Given the description of an element on the screen output the (x, y) to click on. 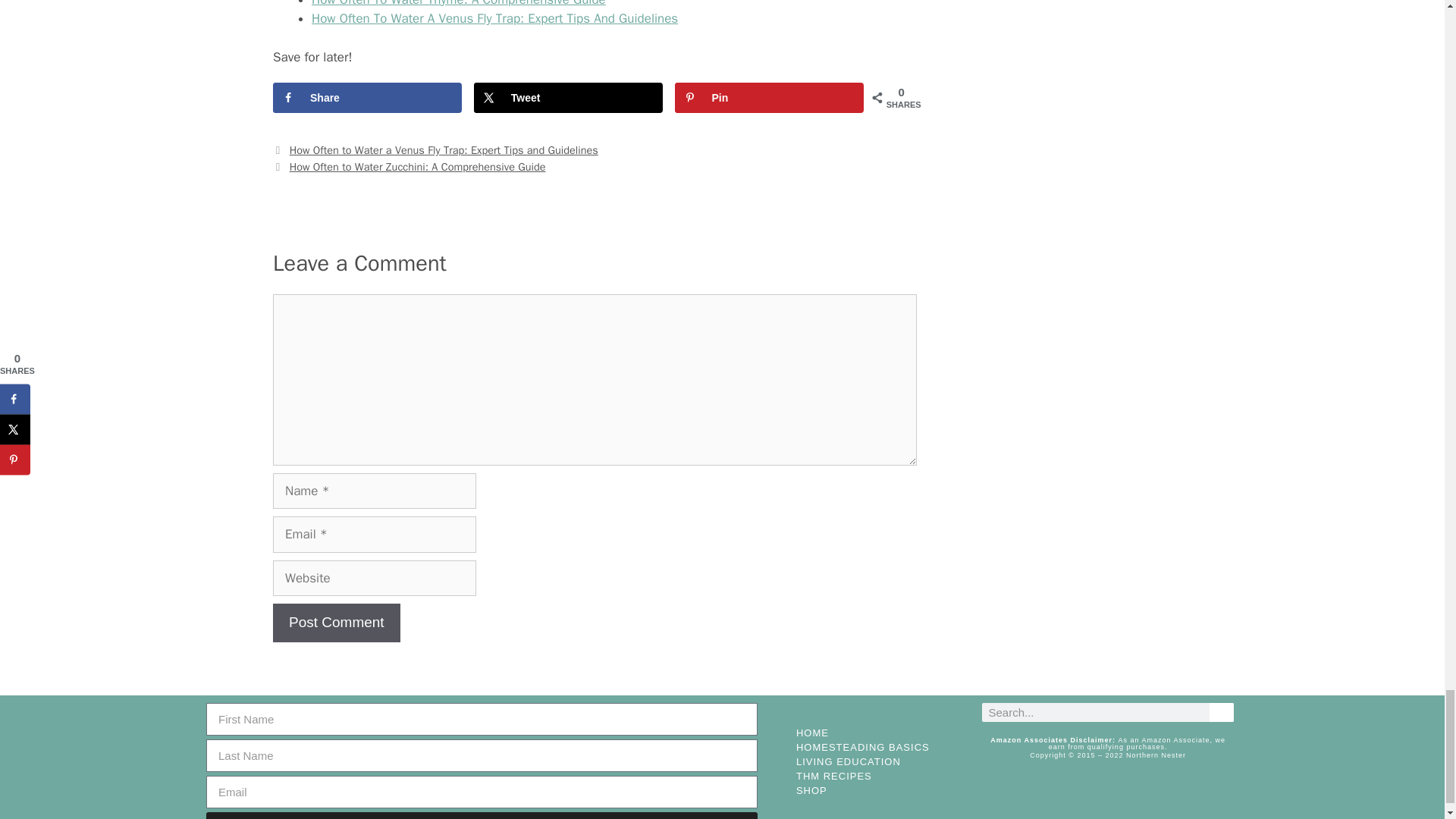
Post Comment (336, 622)
Share on X (568, 97)
Save to Pinterest (769, 97)
Share on Facebook (367, 97)
